Given the description of an element on the screen output the (x, y) to click on. 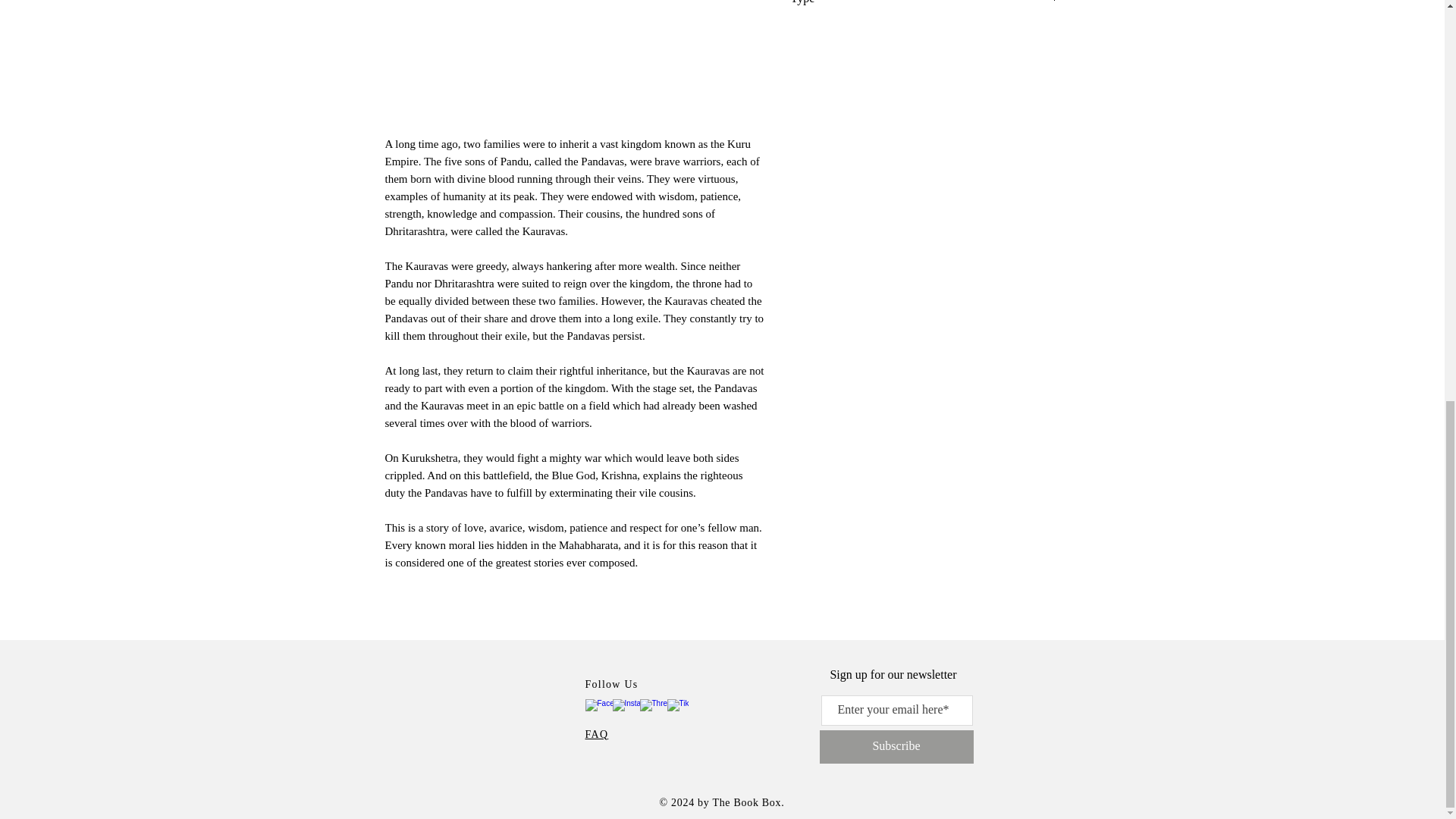
Subscribe (895, 746)
FAQ (596, 734)
Type (924, 2)
